Given the description of an element on the screen output the (x, y) to click on. 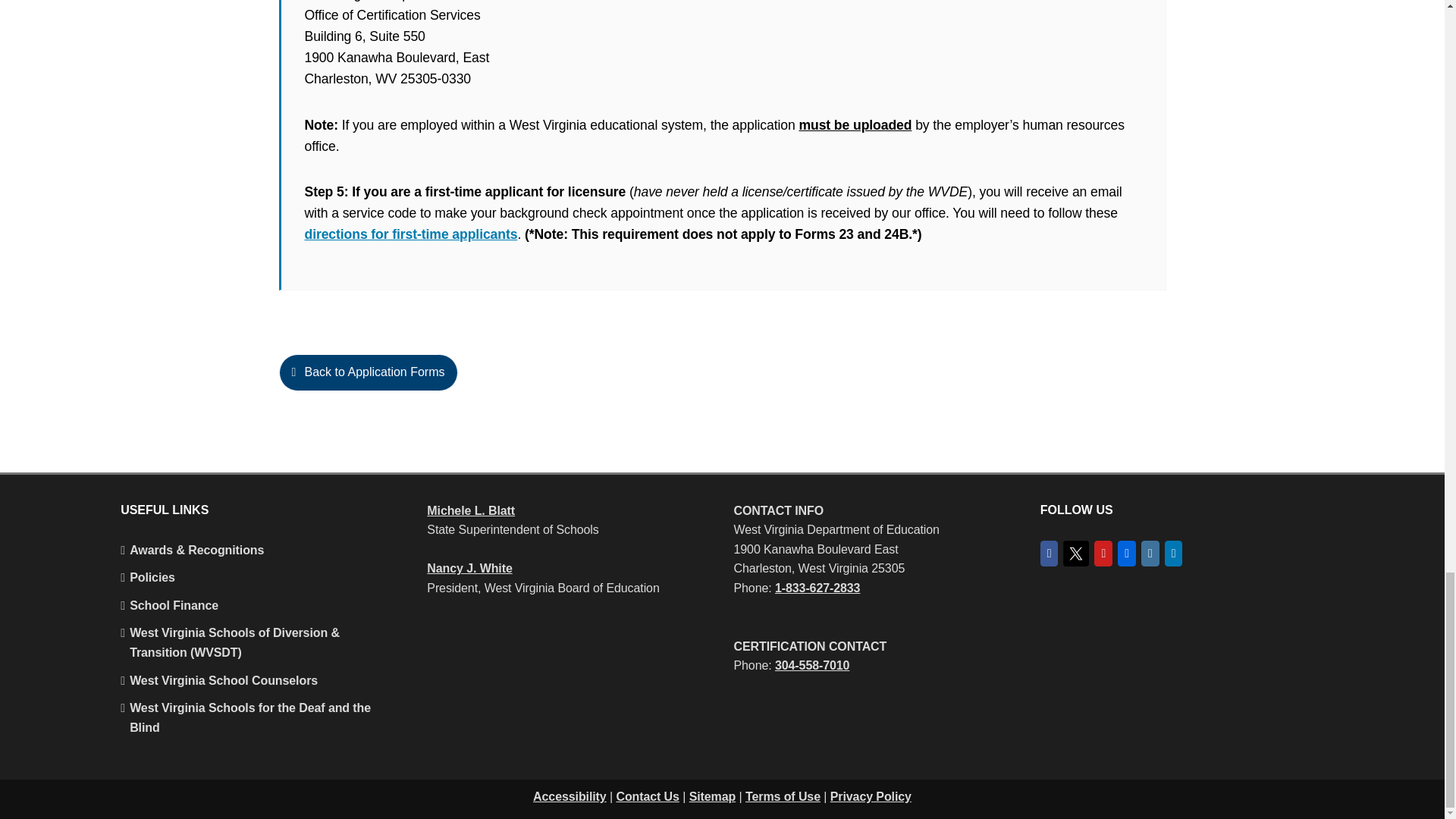
YouTube (1103, 553)
Facebook (1049, 553)
Flickr (1126, 553)
Instagram (1149, 553)
LinkedIn (1173, 553)
Back to Application Forms (722, 382)
